Given the description of an element on the screen output the (x, y) to click on. 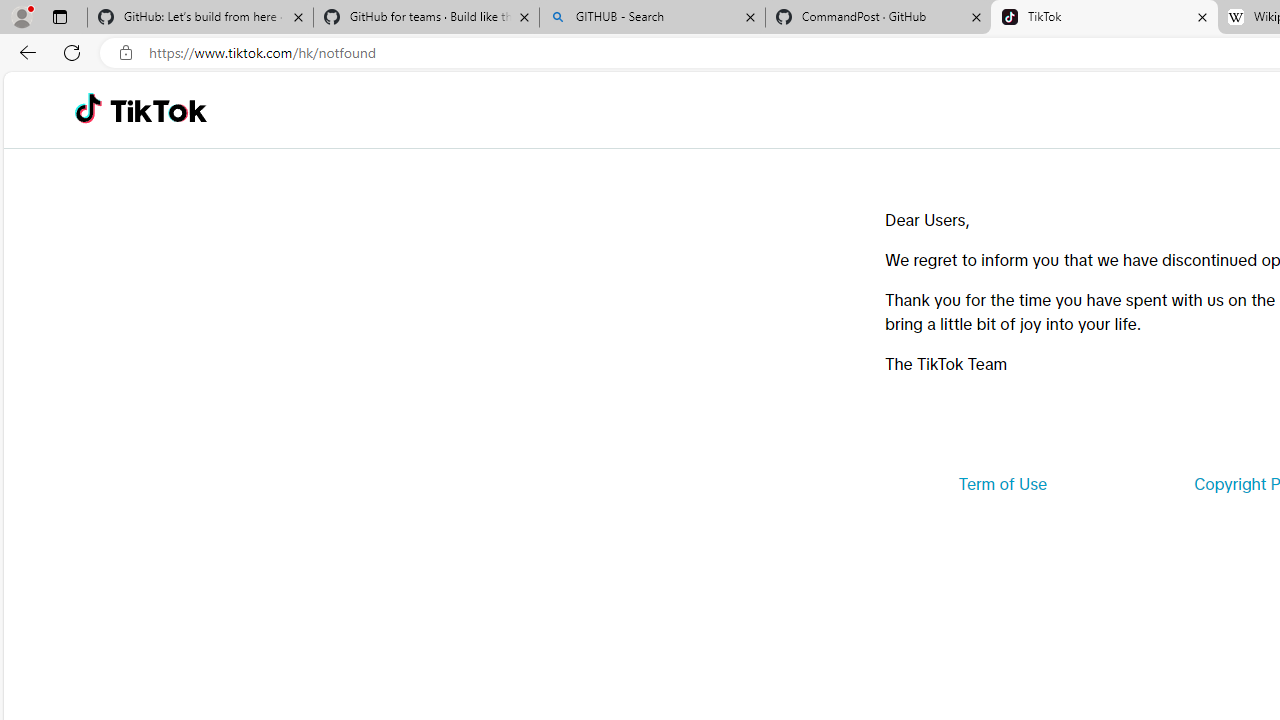
GITHUB - Search (652, 17)
TikTok (1104, 17)
Term of Use (1002, 484)
TikTok (158, 110)
